Given the description of an element on the screen output the (x, y) to click on. 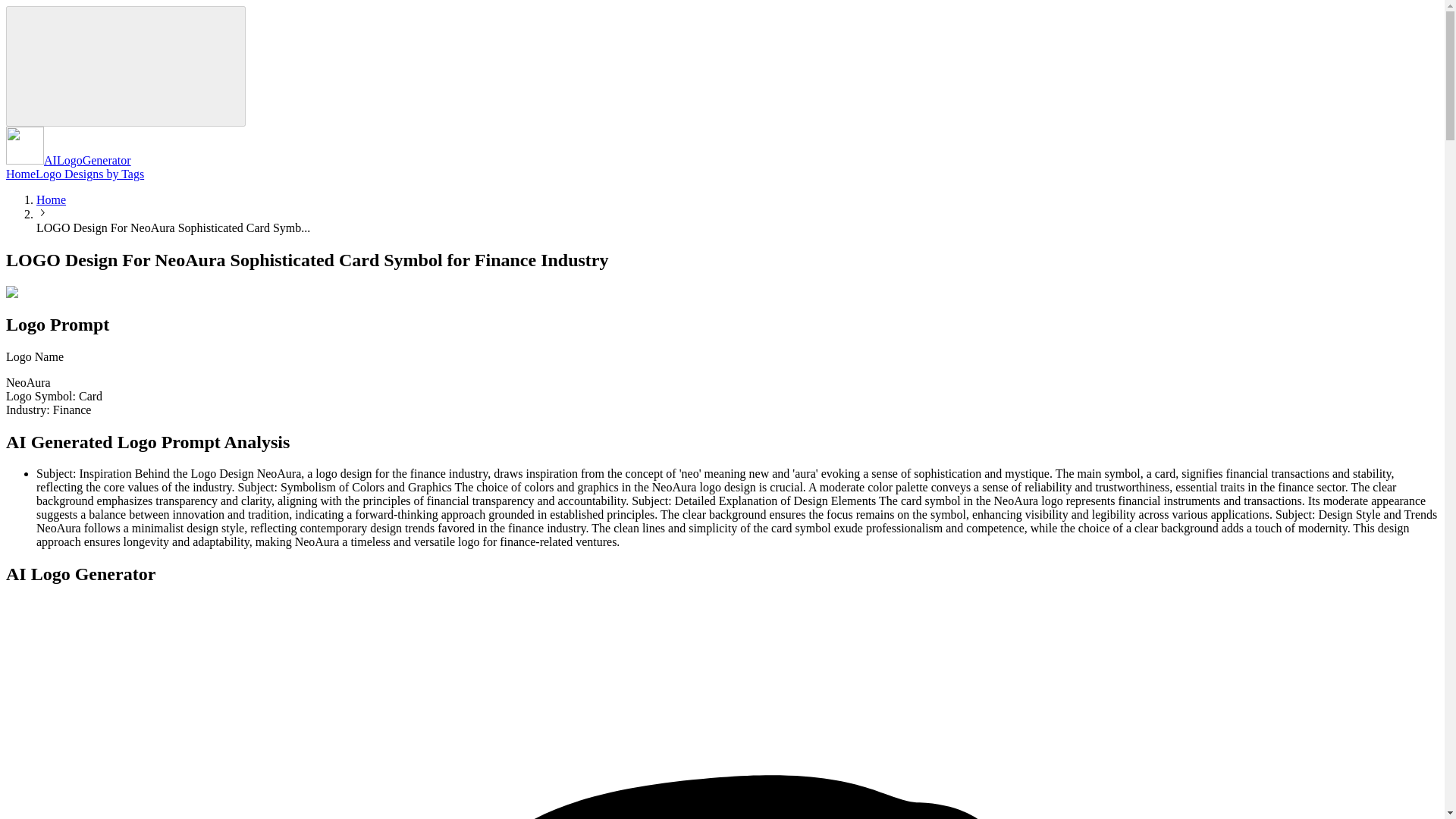
AILogoGenerator (68, 160)
Home (19, 173)
Logo Designs by Tags (89, 173)
Home (50, 199)
